Given the description of an element on the screen output the (x, y) to click on. 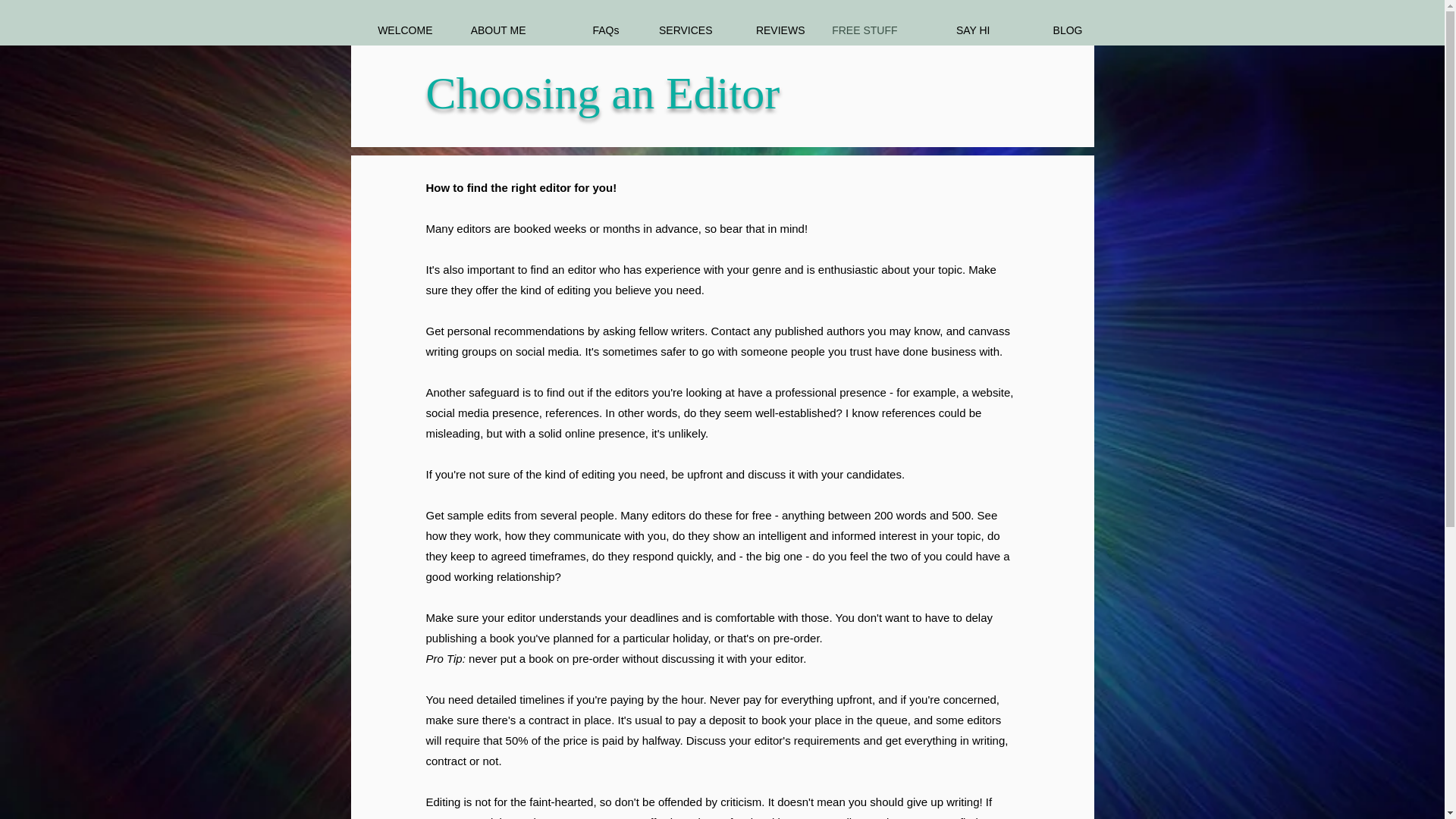
ABOUT ME (490, 30)
WELCOME (397, 30)
REVIEWS (769, 30)
BLOG (1047, 30)
FAQs (583, 30)
SERVICES (676, 30)
FREE STUFF (861, 30)
SAY HI (954, 30)
